Given the description of an element on the screen output the (x, y) to click on. 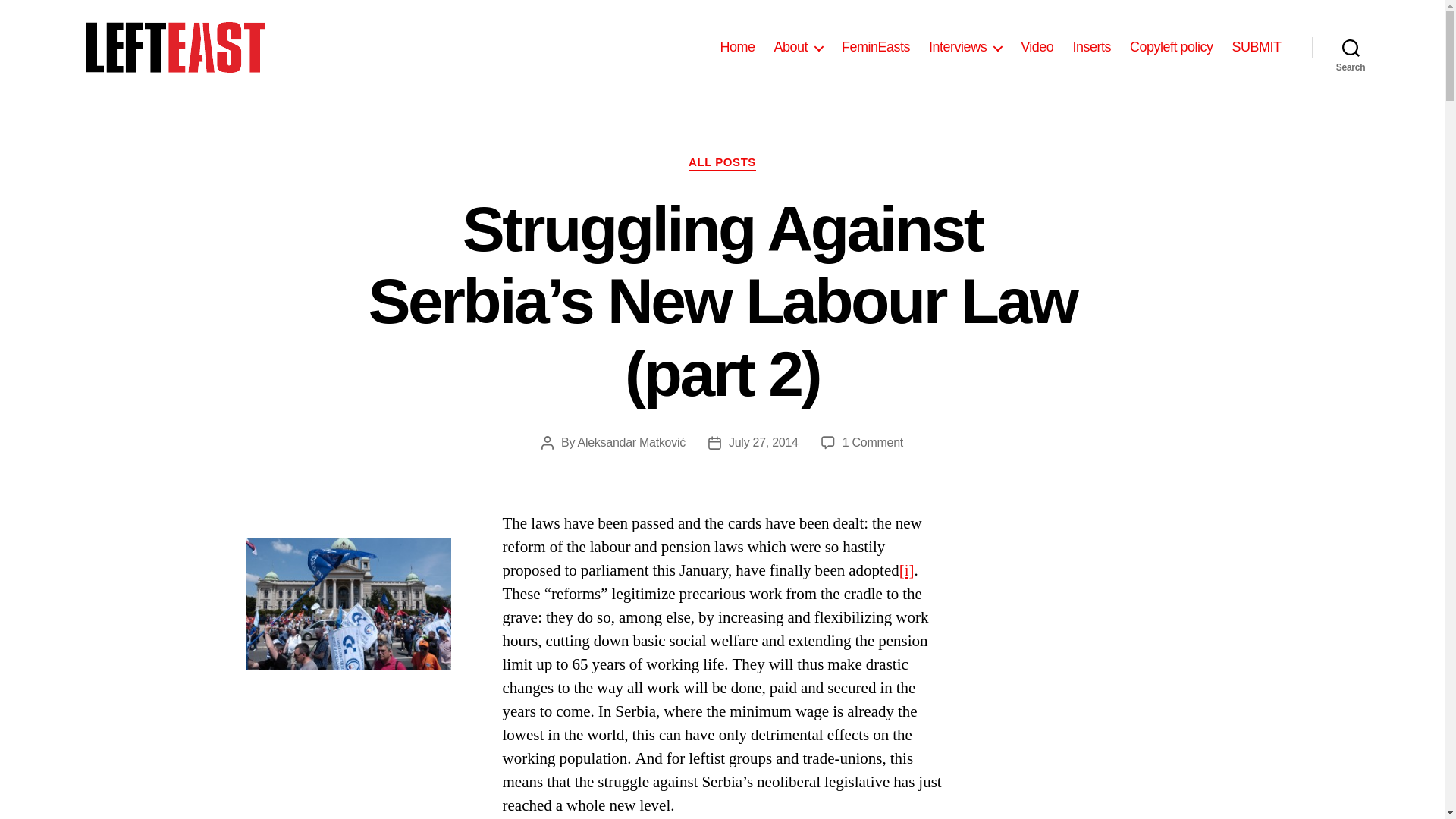
July 27, 2014 (763, 441)
SUBMIT (1256, 47)
Interviews (964, 47)
Search (1350, 46)
Inserts (1090, 47)
ALL POSTS (721, 162)
Copyleft policy (1170, 47)
Home (736, 47)
Video (1036, 47)
FeminEasts (875, 47)
About (797, 47)
